Given the description of an element on the screen output the (x, y) to click on. 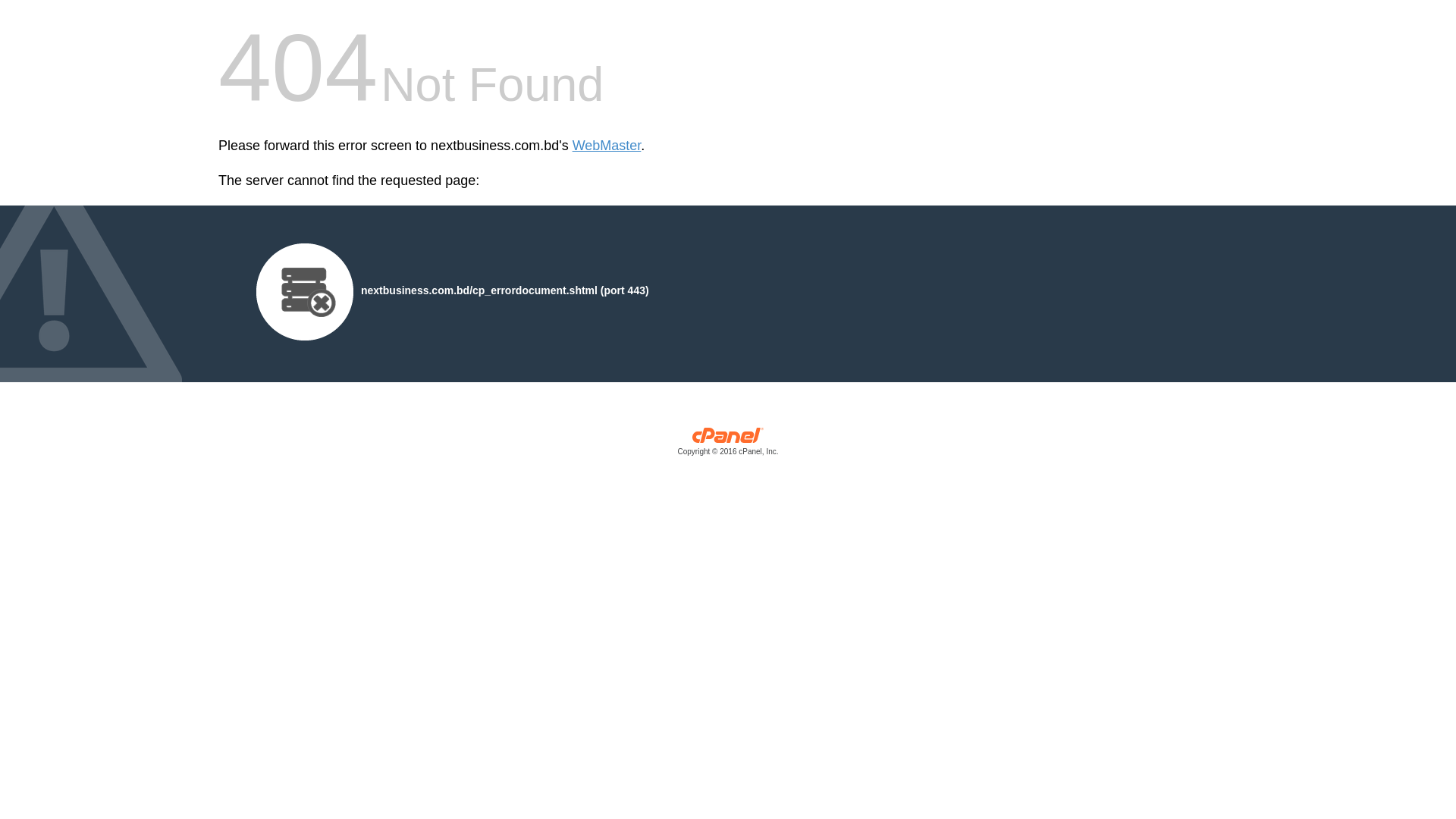
WebMaster Element type: text (606, 145)
